Given the description of an element on the screen output the (x, y) to click on. 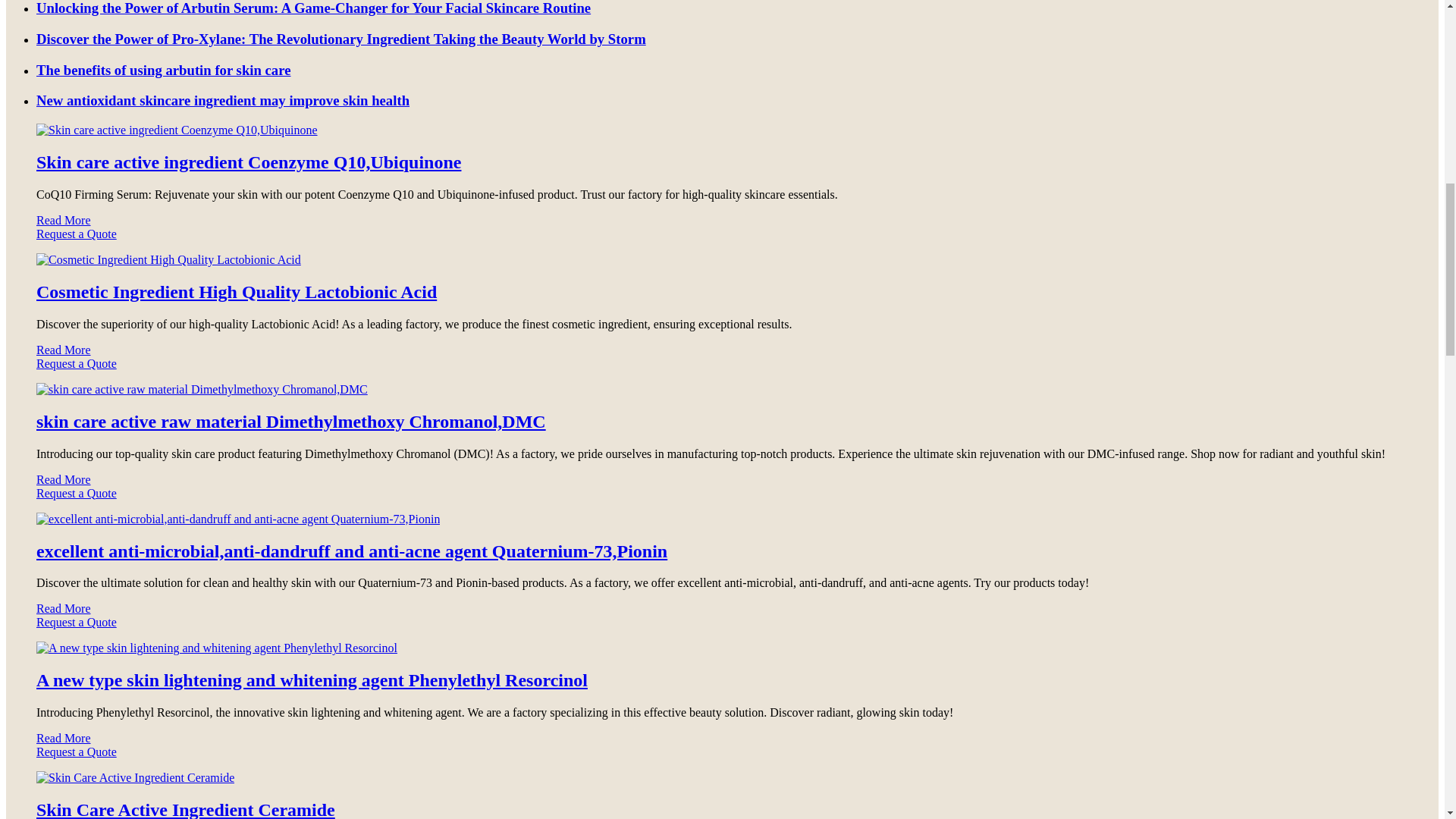
Read More (63, 219)
Skin care active ingredient Coenzyme Q10,Ubiquinone (248, 161)
Request a Quote (721, 240)
